Given the description of an element on the screen output the (x, y) to click on. 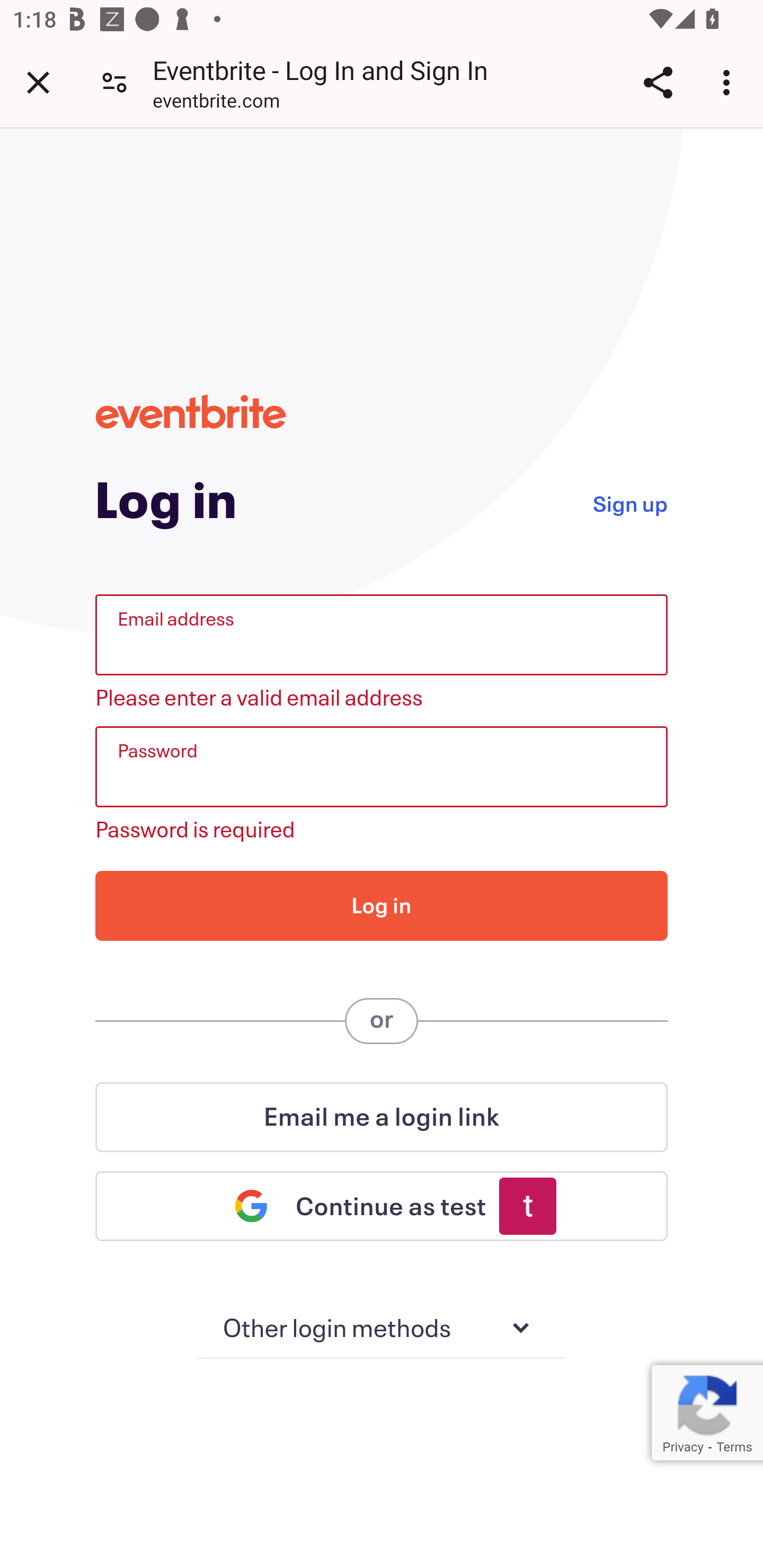
Close tab (38, 82)
Share (657, 82)
Customize and control Google Chrome (729, 82)
Connection is secure (114, 81)
eventbrite.com (216, 103)
www.eventbrite (190, 411)
Sign up (629, 502)
Log in (381, 905)
Email me a login link (381, 1116)
Other login methods Toggle Content (381, 1328)
Privacy (682, 1447)
Terms (734, 1447)
